Given the description of an element on the screen output the (x, y) to click on. 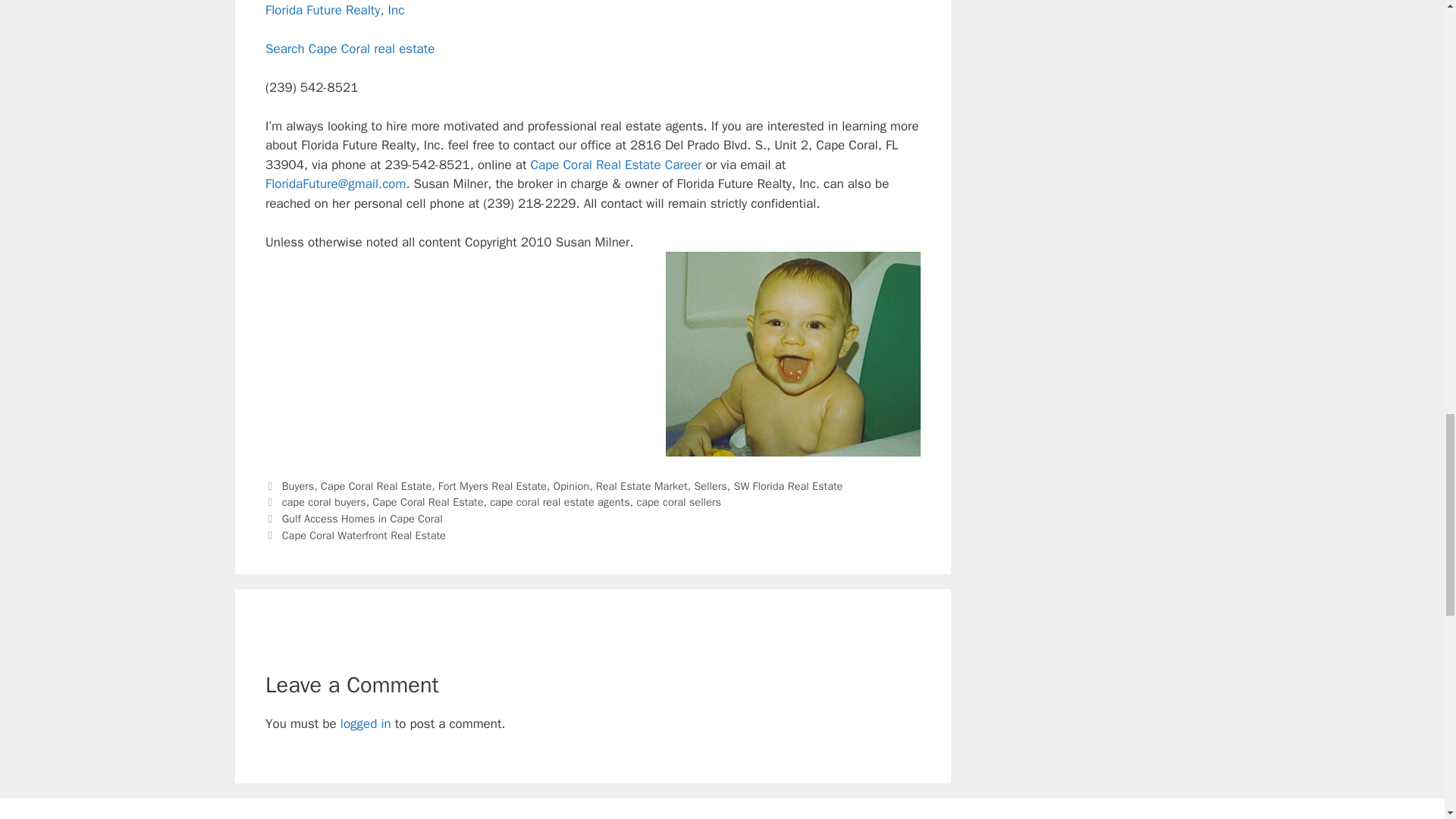
Happy Baby (792, 353)
Gulf Access Homes in Cape Coral (362, 518)
Cape Coral Real Estate (375, 486)
Opinion (571, 486)
cape coral real estate agents (559, 501)
Sellers (710, 486)
Cape Coral Real Estate Career (615, 164)
cape coral buyers (324, 501)
Search Cape Coral real estate (348, 48)
Fort Myers Real Estate (492, 486)
